Given the description of an element on the screen output the (x, y) to click on. 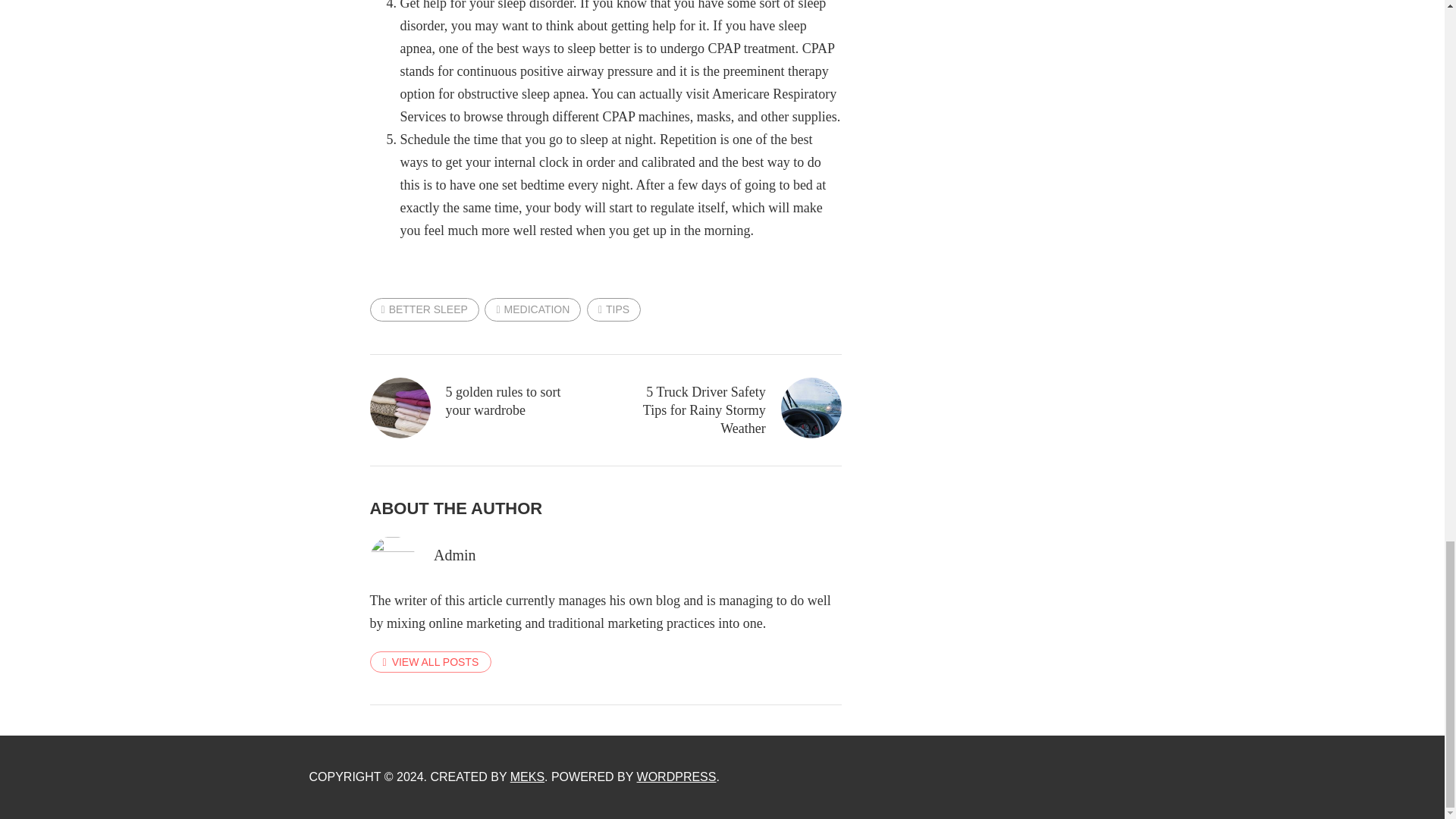
5 Truck Driver Safety Tips for Rainy Stormy Weather (734, 410)
MEDICATION (532, 309)
5 golden rules to sort your wardrobe (476, 401)
BETTER SLEEP (424, 309)
TIPS (613, 309)
WORDPRESS (676, 776)
MEKS (527, 776)
VIEW ALL POSTS (430, 661)
